Given the description of an element on the screen output the (x, y) to click on. 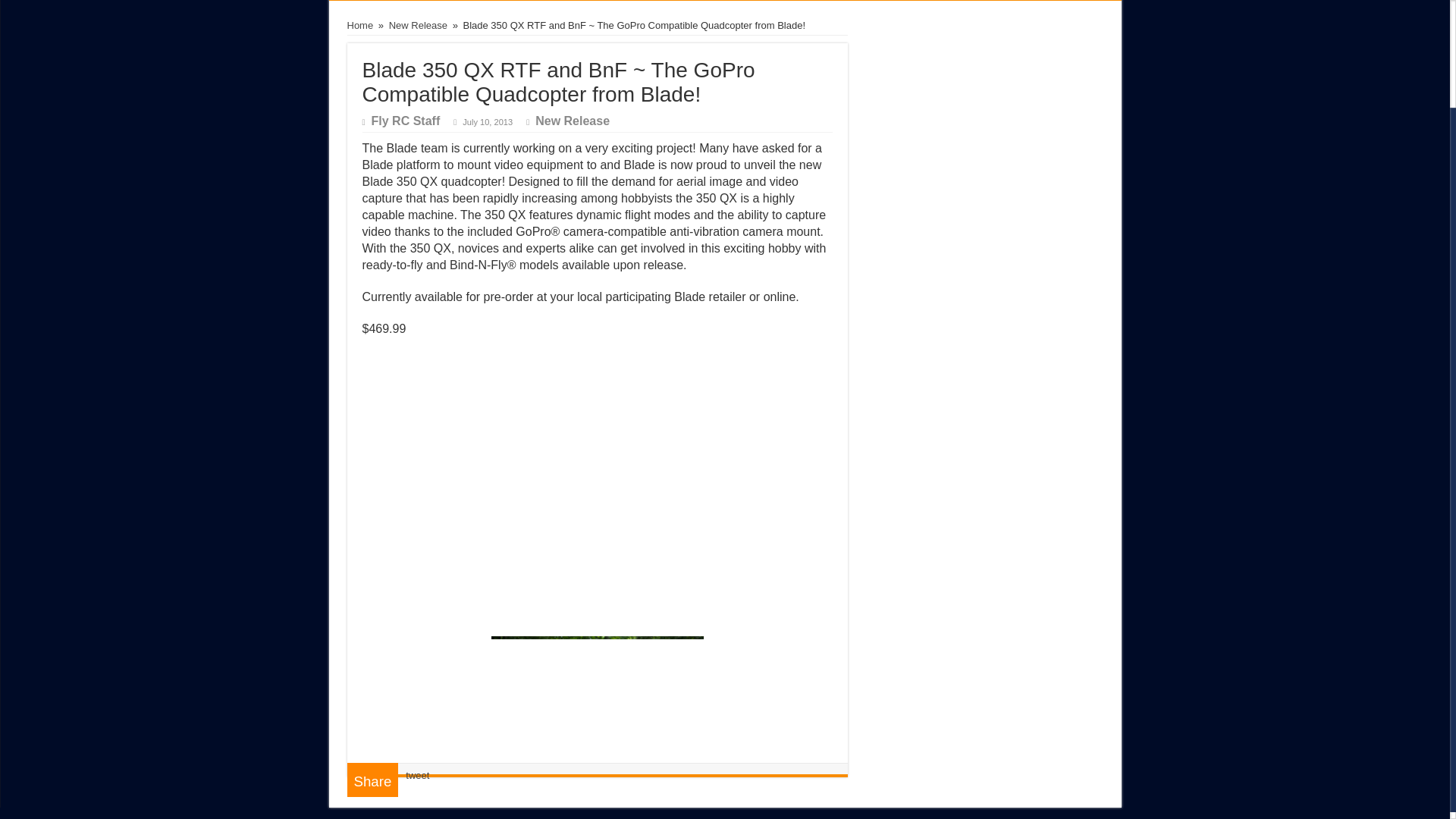
New Release (417, 25)
Fly RC Staff (406, 120)
tweet (417, 775)
New Release (572, 120)
Home (360, 25)
